Given the description of an element on the screen output the (x, y) to click on. 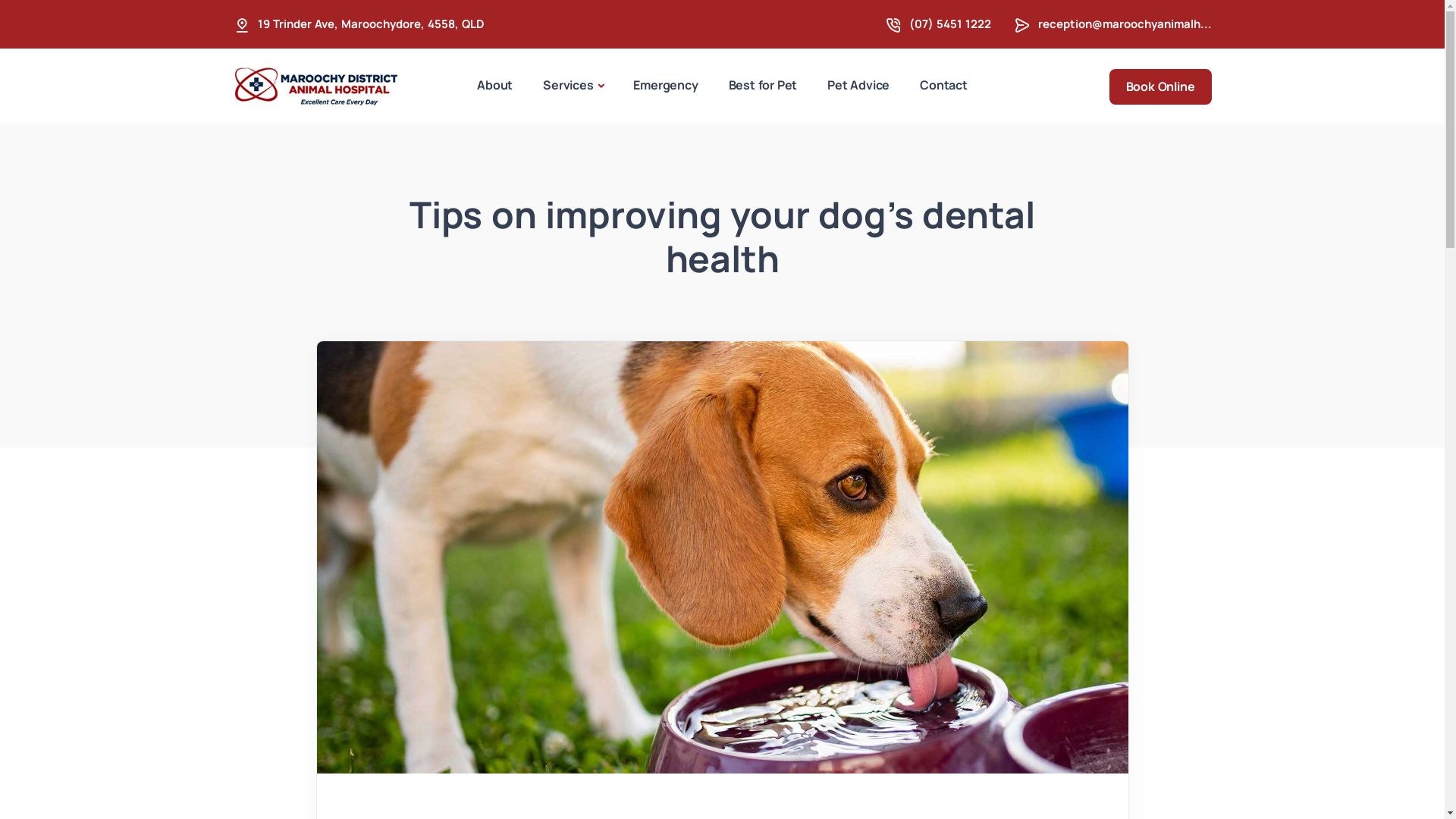
(07) 5451 1222 Element type: text (949, 23)
Pet Advice Element type: text (858, 84)
Emergency Element type: text (665, 84)
Best for Pet Element type: text (762, 84)
About Element type: text (494, 84)
Services Element type: text (572, 86)
reception@maroochyanimalh... Element type: text (1124, 23)
Book Online Element type: text (1160, 86)
19 Trinder Ave, Maroochydore, 4558, QLD Element type: text (370, 23)
Contact Element type: text (943, 84)
